Given the description of an element on the screen output the (x, y) to click on. 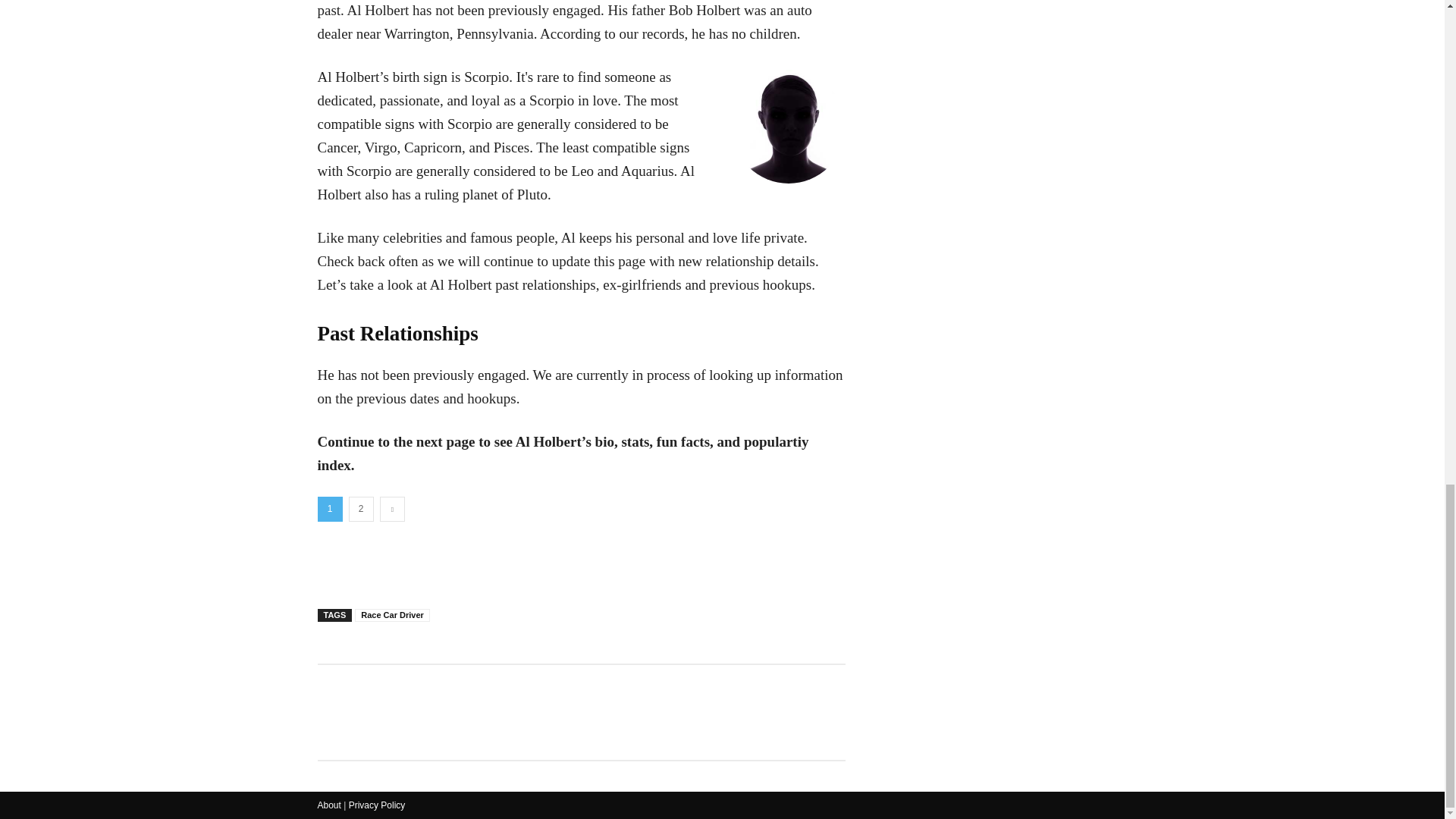
Privacy Policy (377, 805)
About (328, 805)
Privacy Policy (377, 805)
Race Car Driver (392, 615)
2 (361, 508)
About CelebsCouples (328, 805)
